Given the description of an element on the screen output the (x, y) to click on. 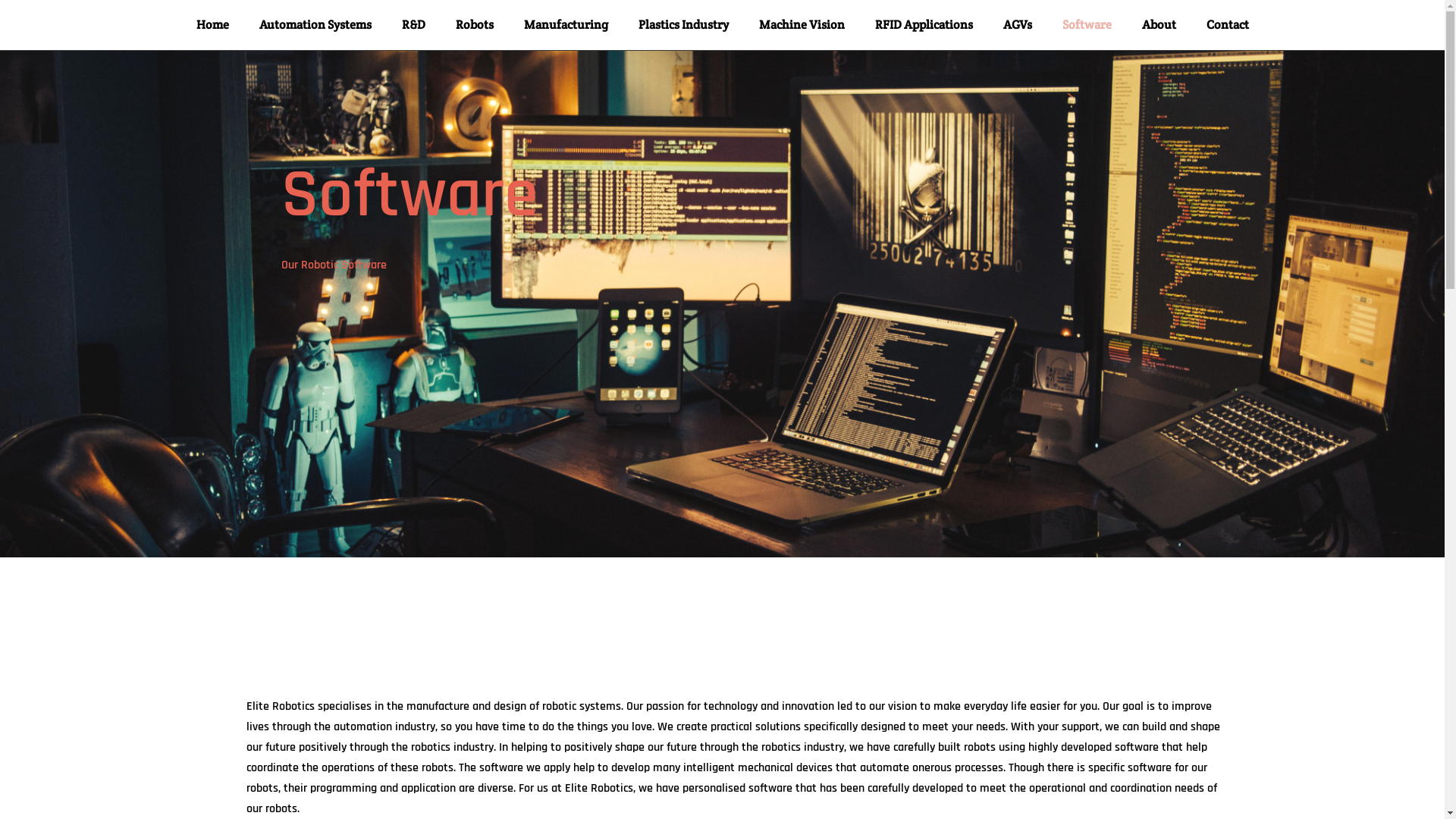
R&D Element type: text (413, 25)
RFID Applications Element type: text (923, 25)
Contact Element type: text (1226, 25)
Manufacturing Element type: text (565, 25)
Machine Vision Element type: text (801, 25)
Robots Element type: text (473, 25)
Skip to content Element type: text (15, 7)
Software Element type: text (1086, 25)
About Element type: text (1158, 25)
Plastics Industry Element type: text (683, 25)
AGVs Element type: text (1016, 25)
Home Element type: text (211, 25)
Automation Systems Element type: text (315, 25)
